Given the description of an element on the screen output the (x, y) to click on. 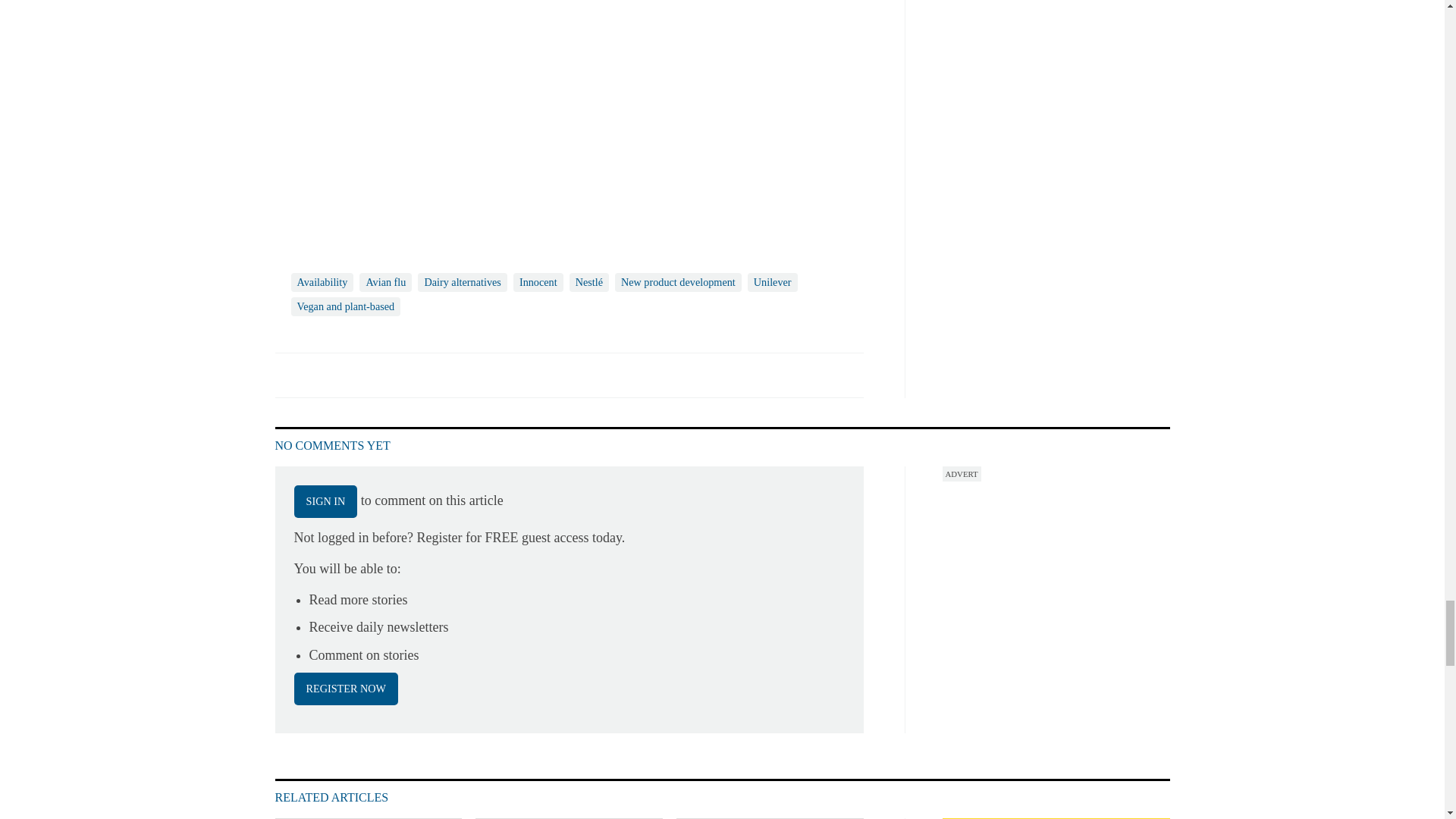
Email this article (386, 374)
No comments (840, 383)
Share this on Facebook (288, 374)
Share this on Linked in (352, 374)
Share this on Twitter (320, 374)
